Given the description of an element on the screen output the (x, y) to click on. 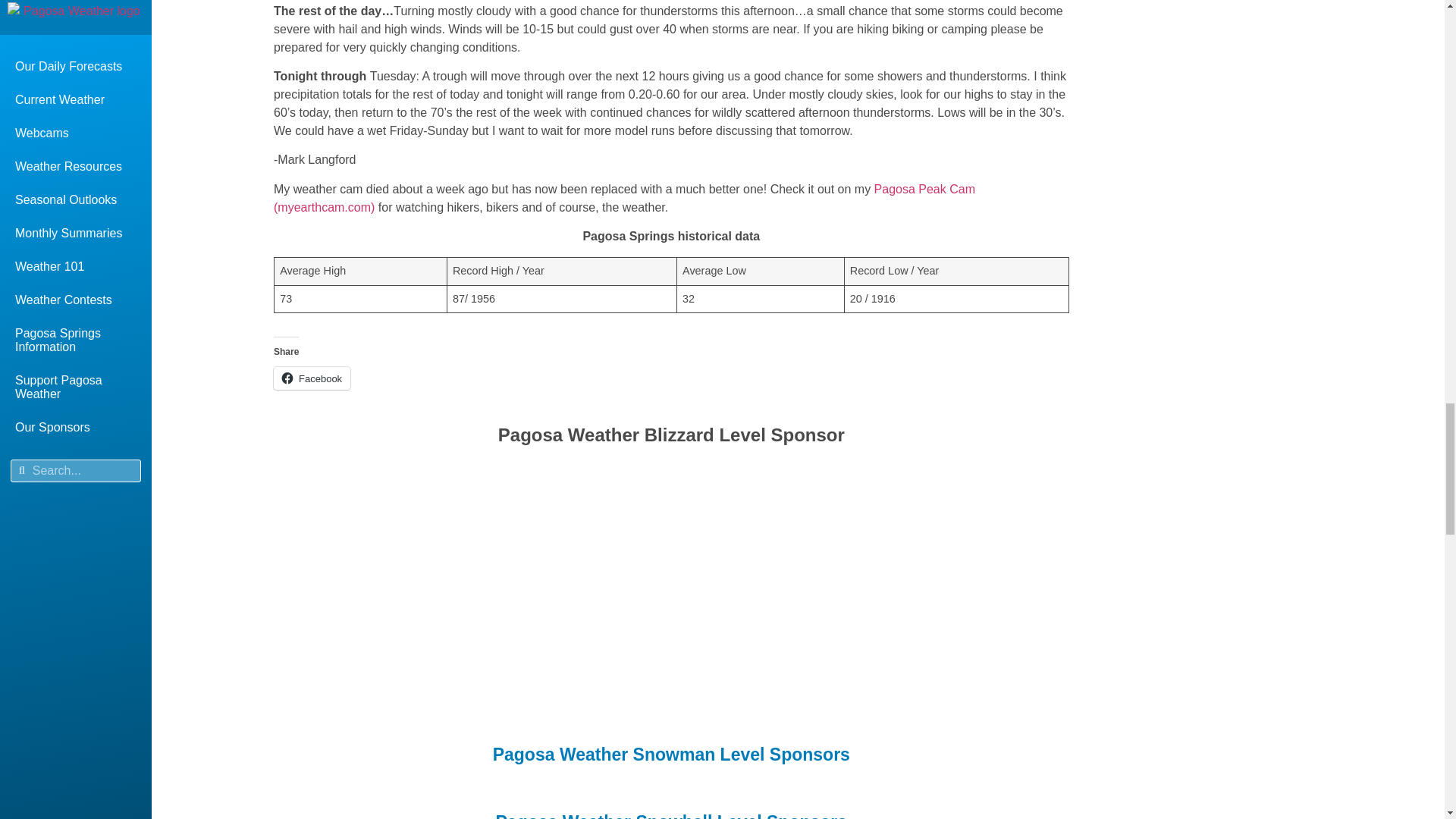
Click to share on Facebook (311, 377)
